Given the description of an element on the screen output the (x, y) to click on. 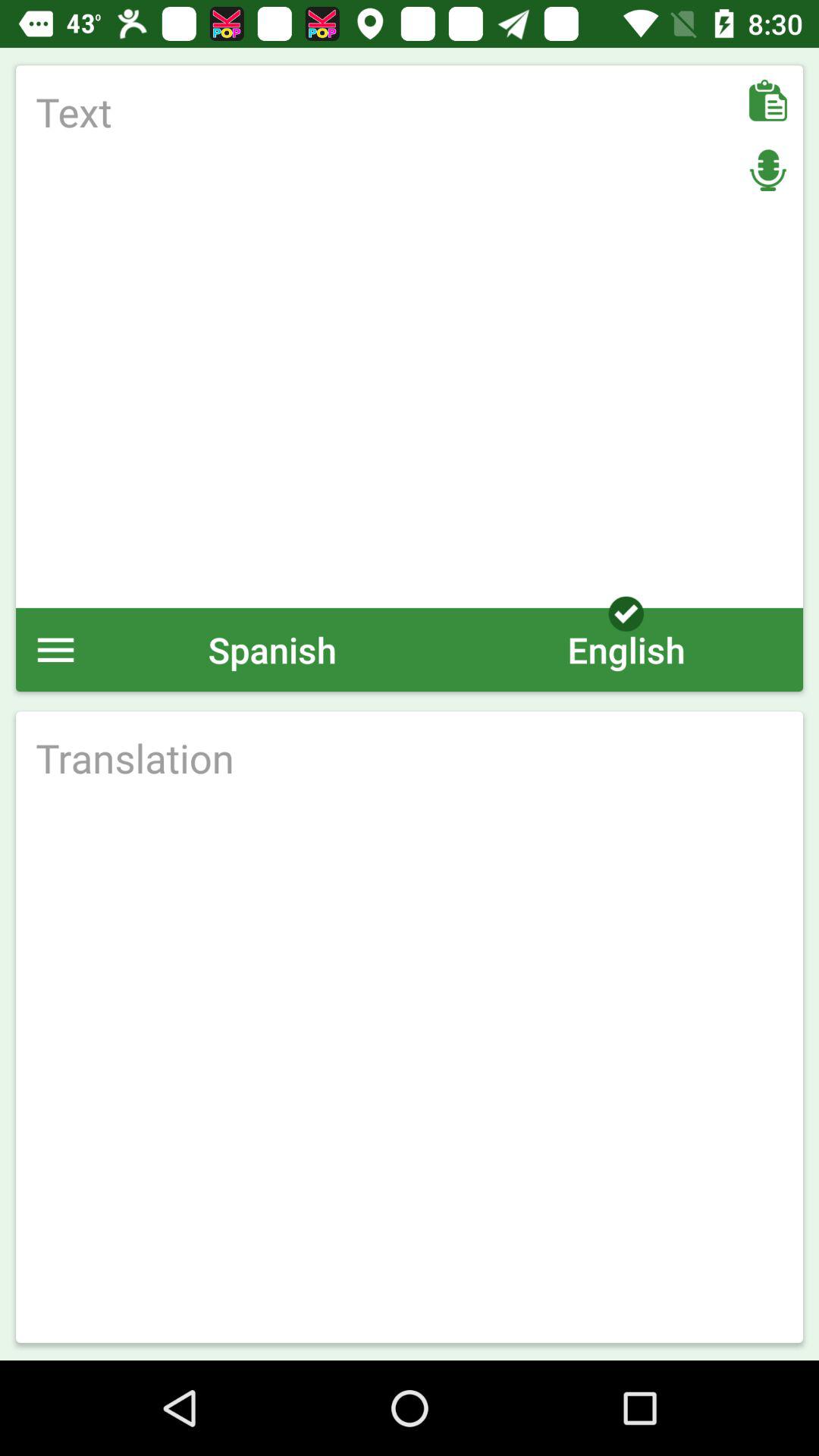
scroll to english icon (626, 649)
